Given the description of an element on the screen output the (x, y) to click on. 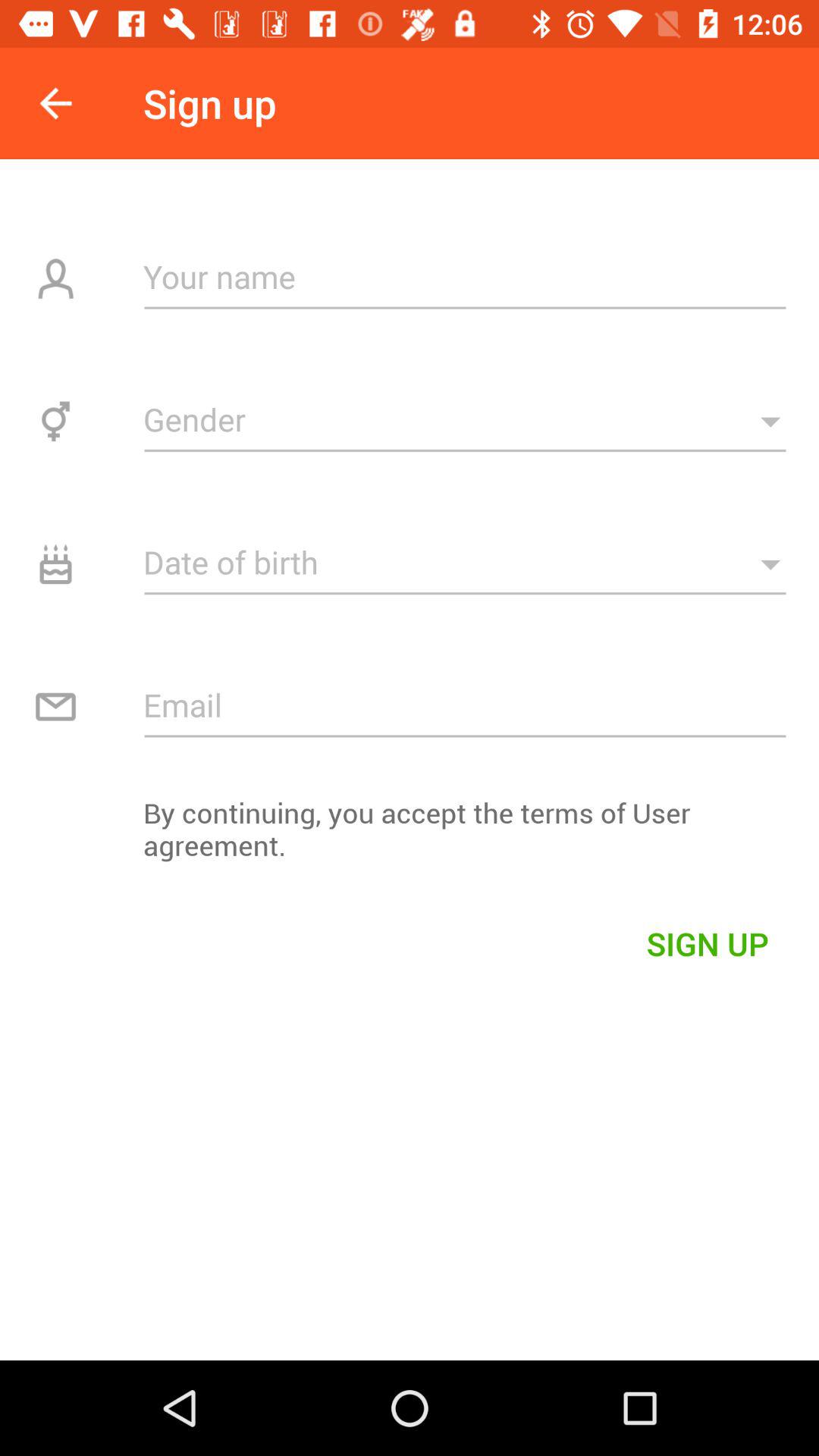
press item to the left of the sign up item (55, 103)
